Given the description of an element on the screen output the (x, y) to click on. 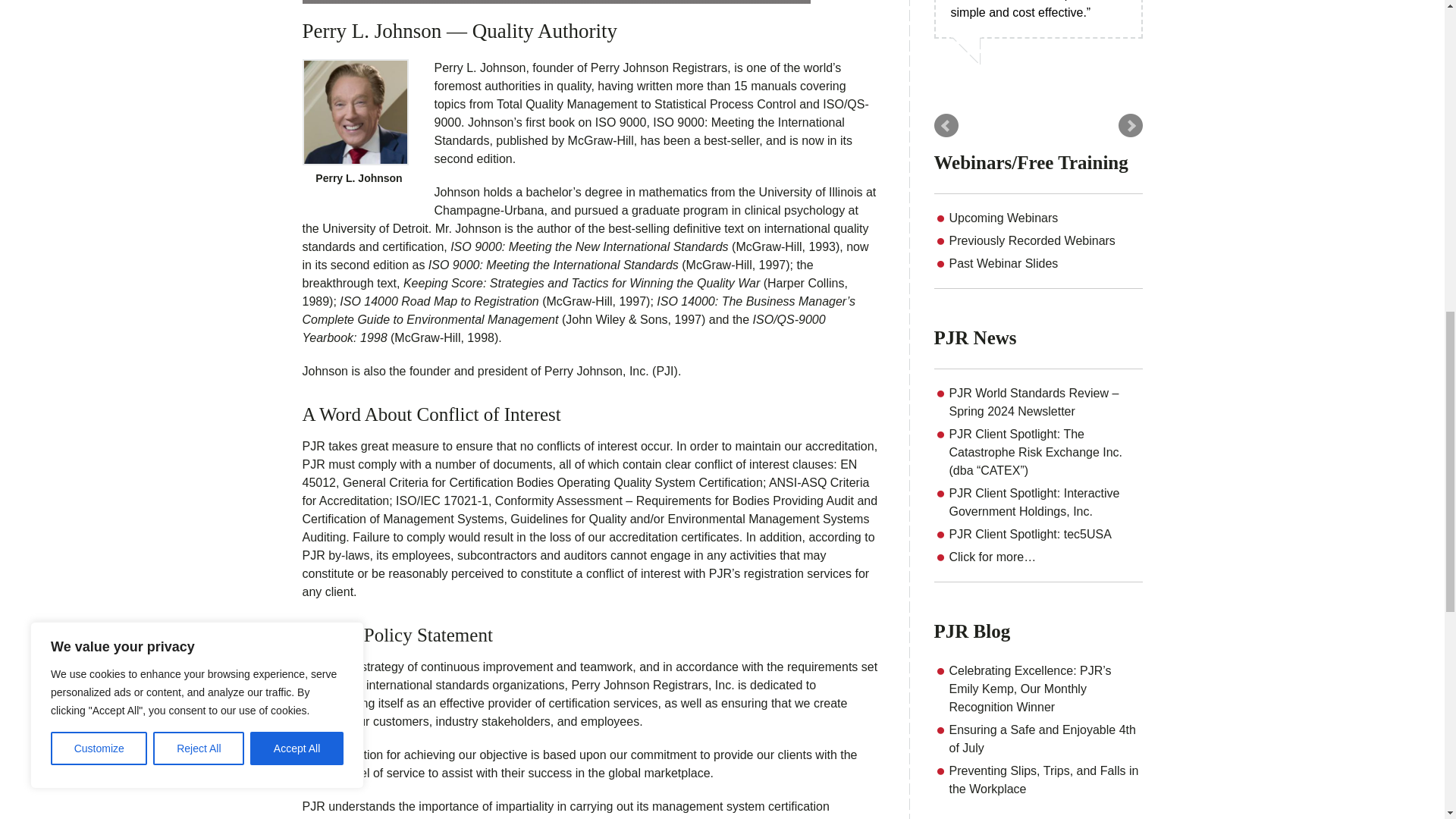
Perry L. Johnson (354, 111)
